Given the description of an element on the screen output the (x, y) to click on. 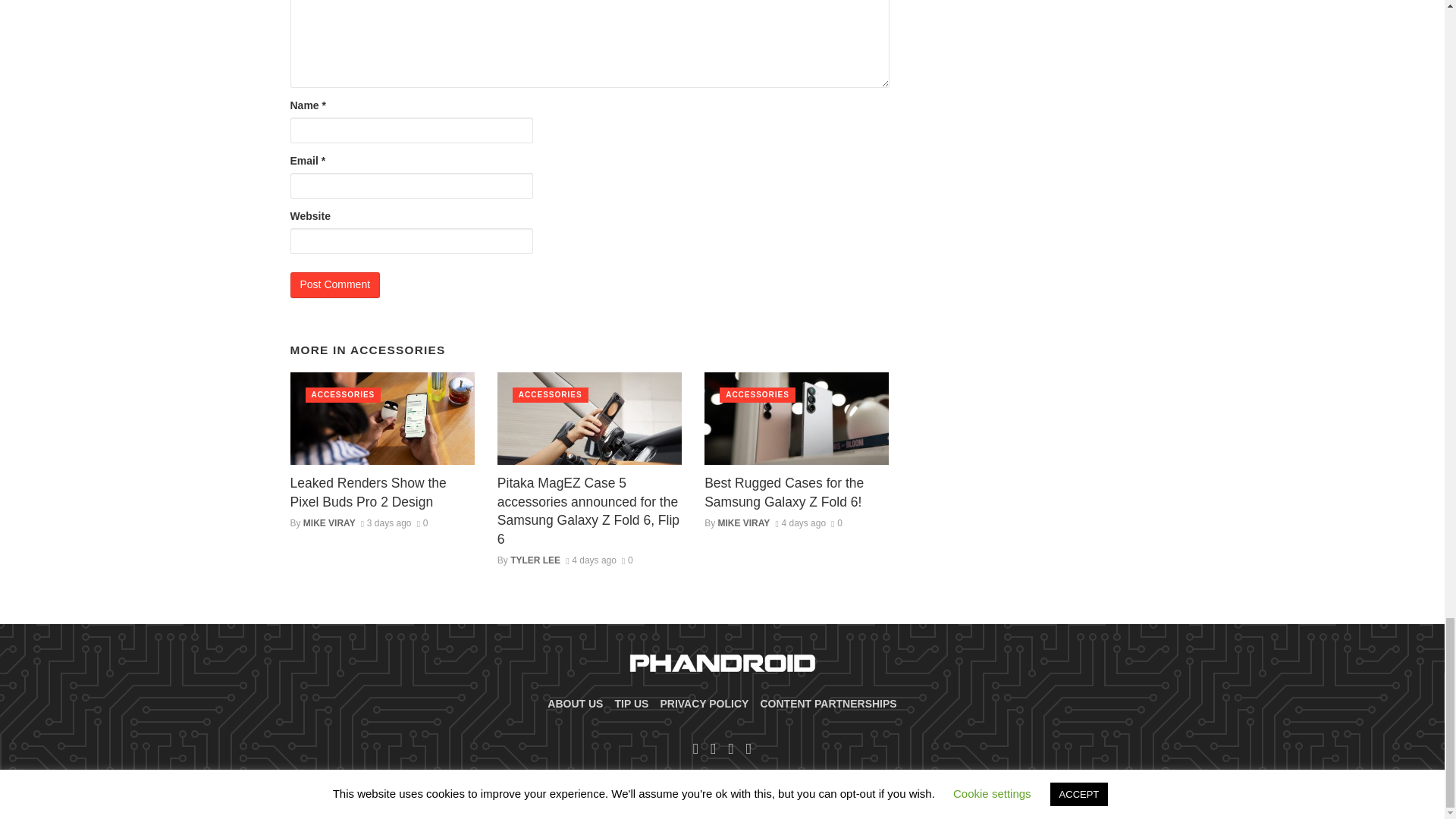
Post Comment (334, 284)
